Given the description of an element on the screen output the (x, y) to click on. 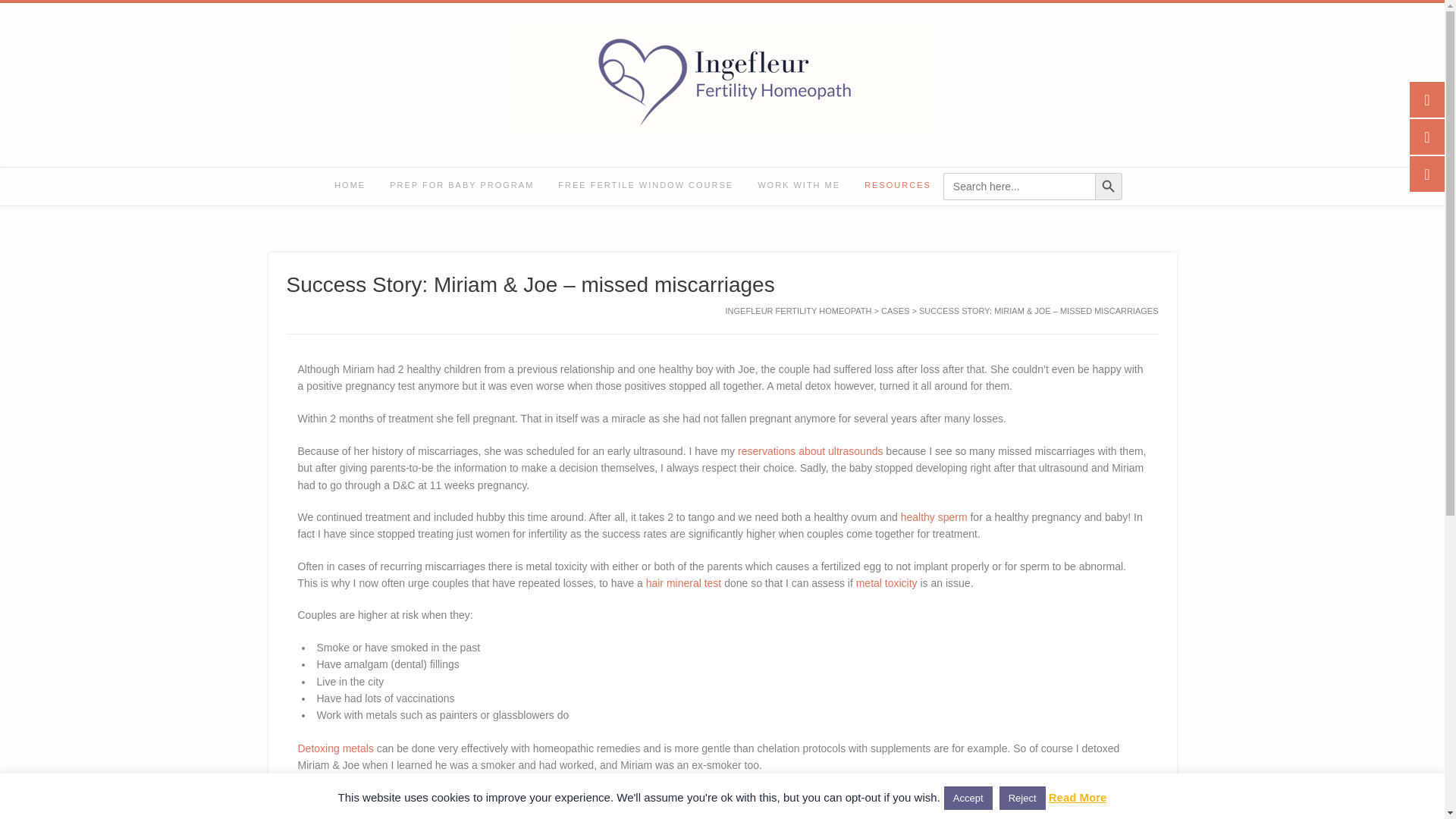
hair mineral test (684, 582)
reservations about ultrasounds (810, 451)
PREP FOR BABY PROGRAM (461, 186)
Go to Cases. (894, 310)
INGEFLEUR FERTILITY HOMEOPATH (798, 310)
RESOURCES (897, 186)
HOME (349, 186)
Detoxing metals (334, 748)
FREE FERTILE WINDOW COURSE (645, 186)
Go to Ingefleur Fertility Homeopath. (798, 310)
healthy sperm (934, 517)
Search Button (1108, 185)
CASES (894, 310)
WORK WITH ME (798, 186)
metal toxicity (886, 582)
